Given the description of an element on the screen output the (x, y) to click on. 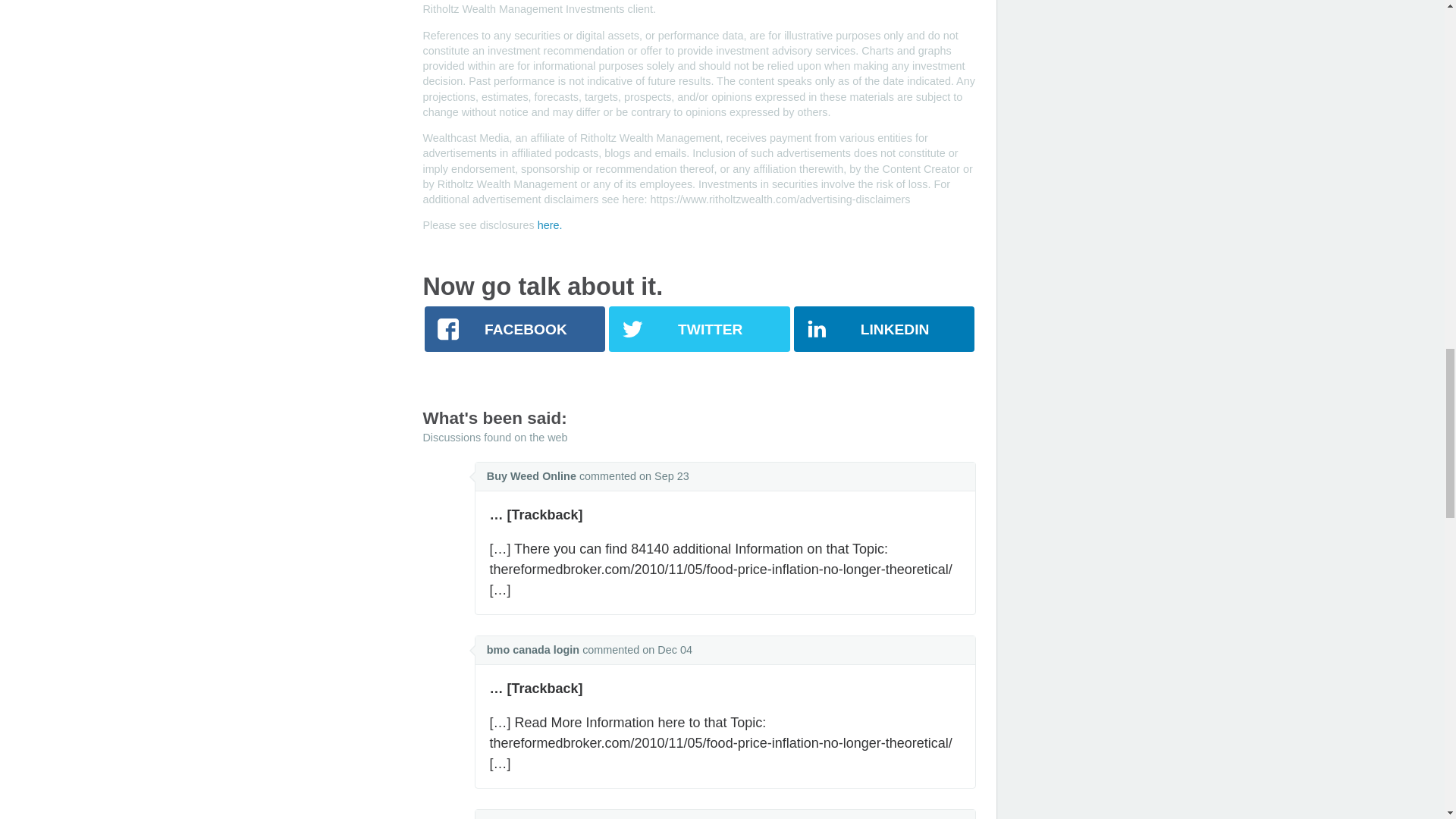
here. (549, 224)
bmo canada login (532, 649)
TWITTER (698, 329)
Buy Weed Online (531, 476)
Bimbim.mobi (521, 818)
FACEBOOK (515, 329)
LINKEDIN (883, 329)
